Given the description of an element on the screen output the (x, y) to click on. 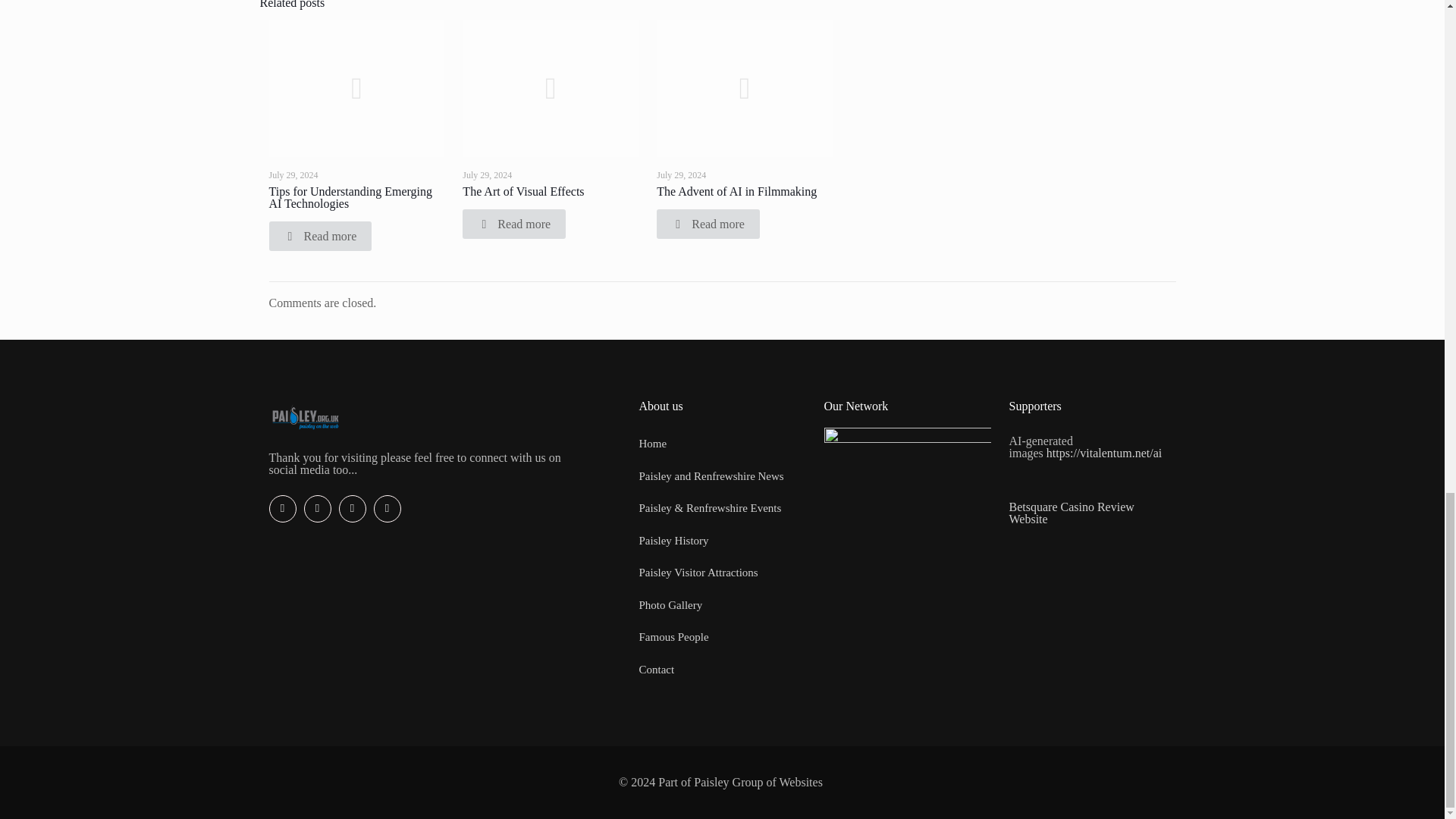
Read more (708, 224)
paisley scot logo - Paisley Scotland (907, 477)
The Art of Visual Effects (523, 191)
Tips for Understanding Emerging AI Technologies (349, 197)
Read more (514, 224)
The Advent of AI in Filmmaking (736, 191)
Read more (319, 235)
